Given the description of an element on the screen output the (x, y) to click on. 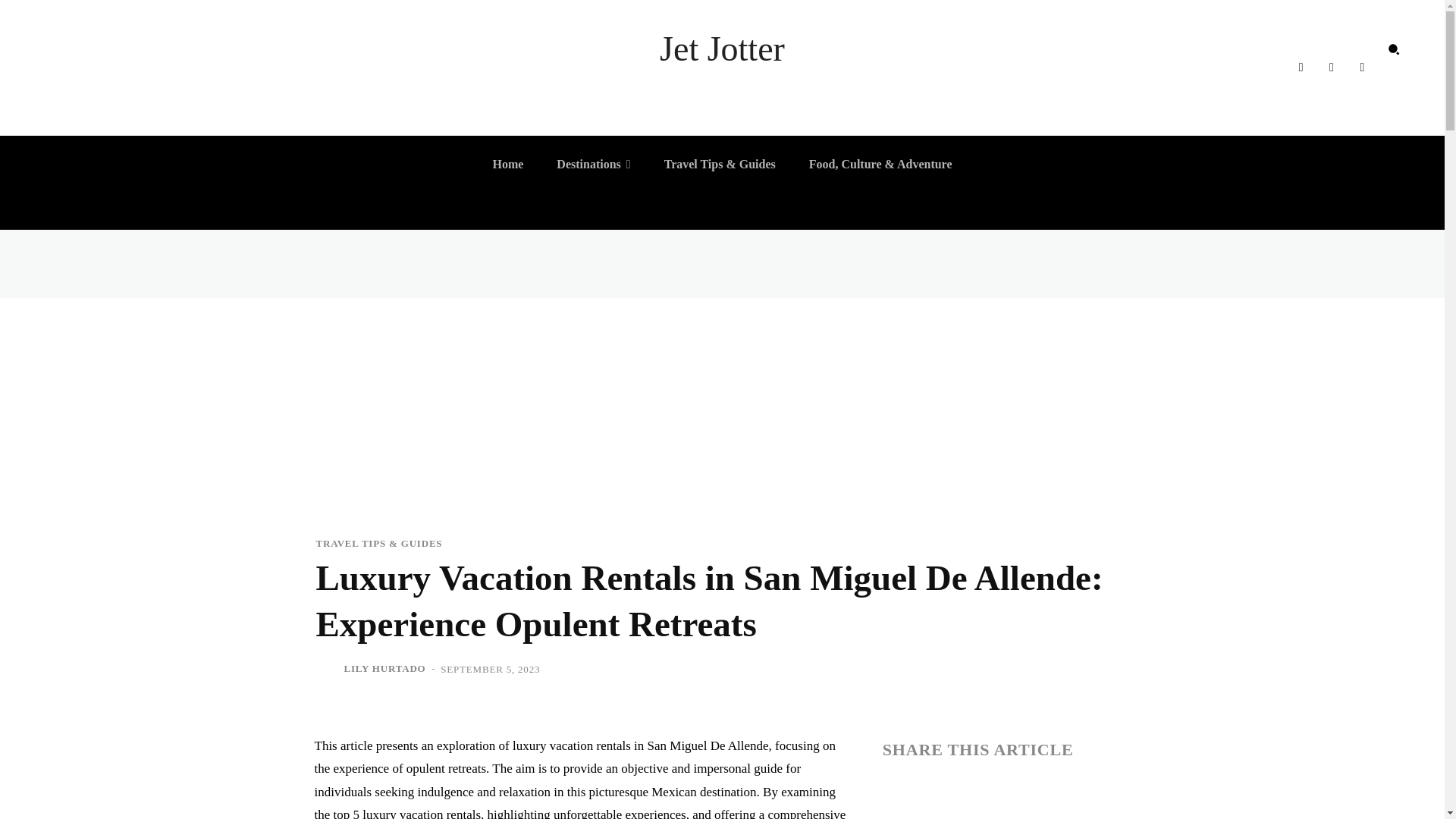
Jet Jotter (722, 49)
Lily Hurtado (327, 668)
Facebook (1299, 67)
Twitter (1362, 67)
Destinations (593, 164)
Instagram (1331, 67)
LILY HURTADO (384, 668)
Home (507, 164)
